Given the description of an element on the screen output the (x, y) to click on. 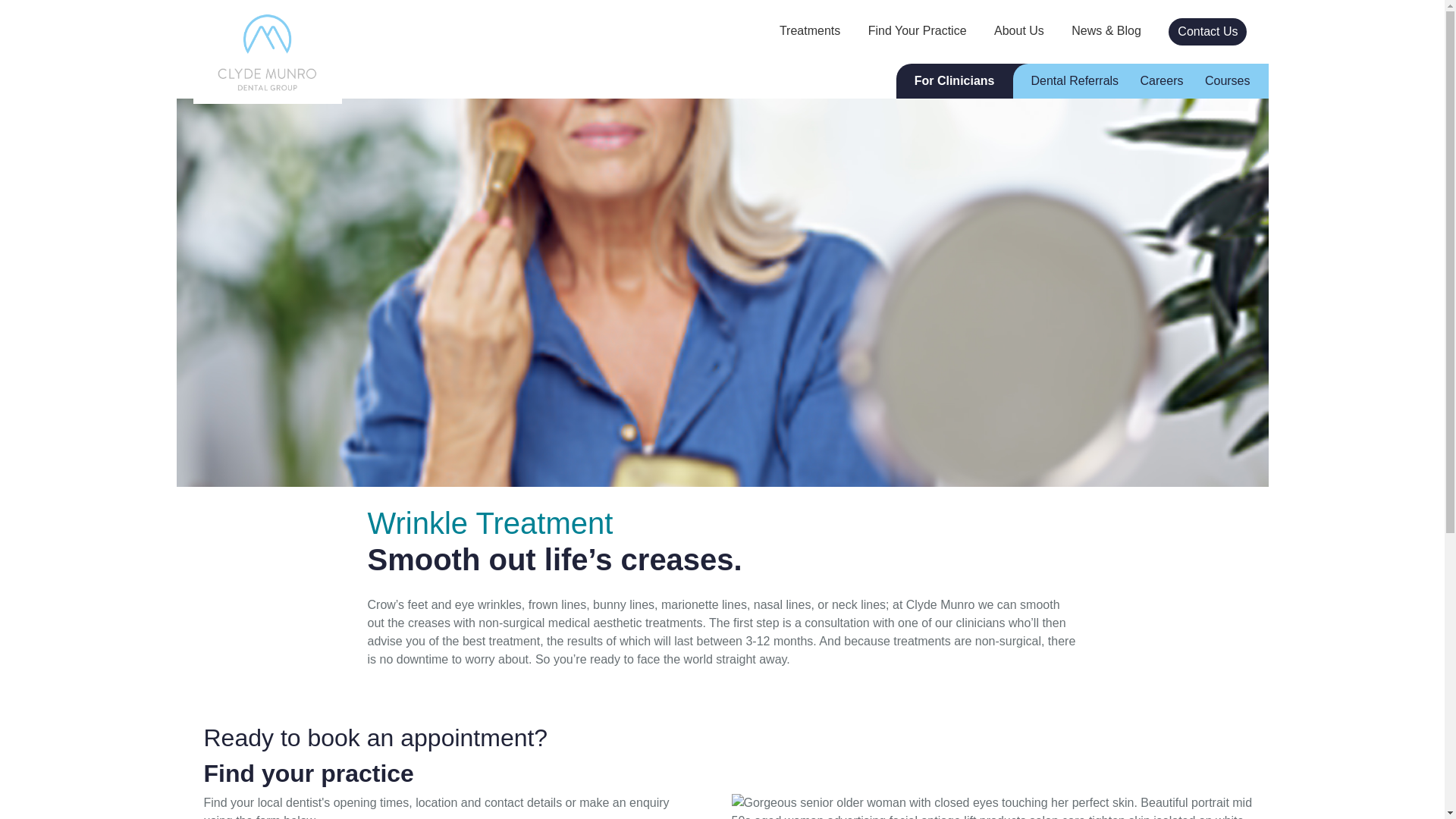
Dental Referrals (1074, 81)
Skip to Main Content (11, 7)
Courses (1227, 81)
Treatments (809, 31)
Careers (1161, 81)
Find Your Practice (916, 31)
Contact Us (1207, 31)
About Us (1018, 31)
